Given the description of an element on the screen output the (x, y) to click on. 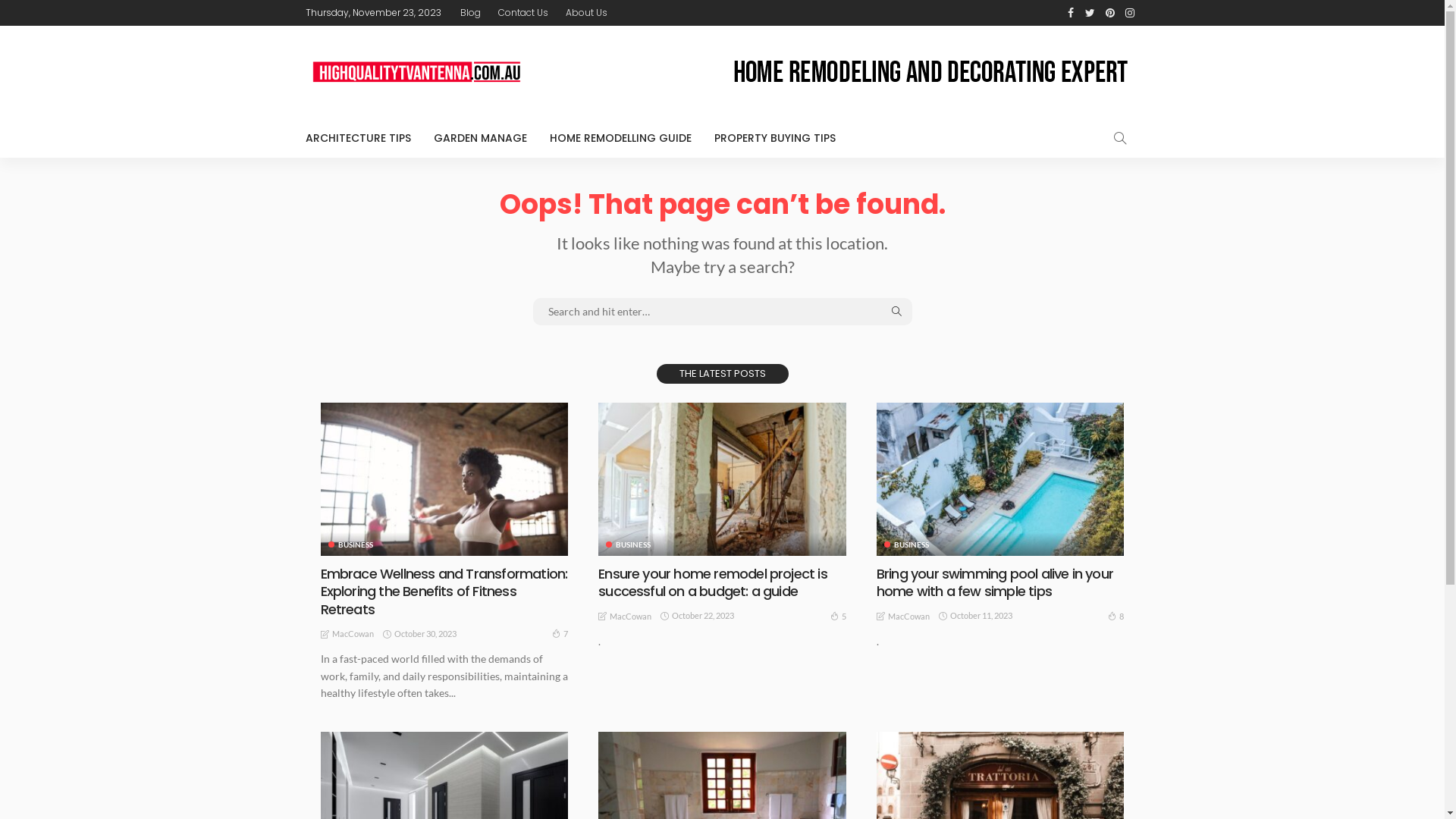
PROPERTY BUYING TIPS Element type: text (774, 137)
GARDEN MANAGE Element type: text (479, 137)
BUSINESS Element type: text (349, 544)
7 Element type: text (559, 633)
BUSINESS Element type: text (906, 544)
MacCowan Element type: text (352, 633)
5 Element type: text (838, 616)
HOME REMODELLING GUIDE Element type: text (620, 137)
ARCHITECTURE TIPS Element type: text (362, 137)
Blog Element type: text (469, 12)
8 Element type: text (1115, 616)
search for: Element type: hover (721, 311)
BUSINESS Element type: text (627, 544)
About Us Element type: text (586, 12)
MacCowan Element type: text (630, 616)
search Element type: hover (1119, 137)
MacCowan Element type: text (908, 616)
Contact Us Element type: text (522, 12)
